Given the description of an element on the screen output the (x, y) to click on. 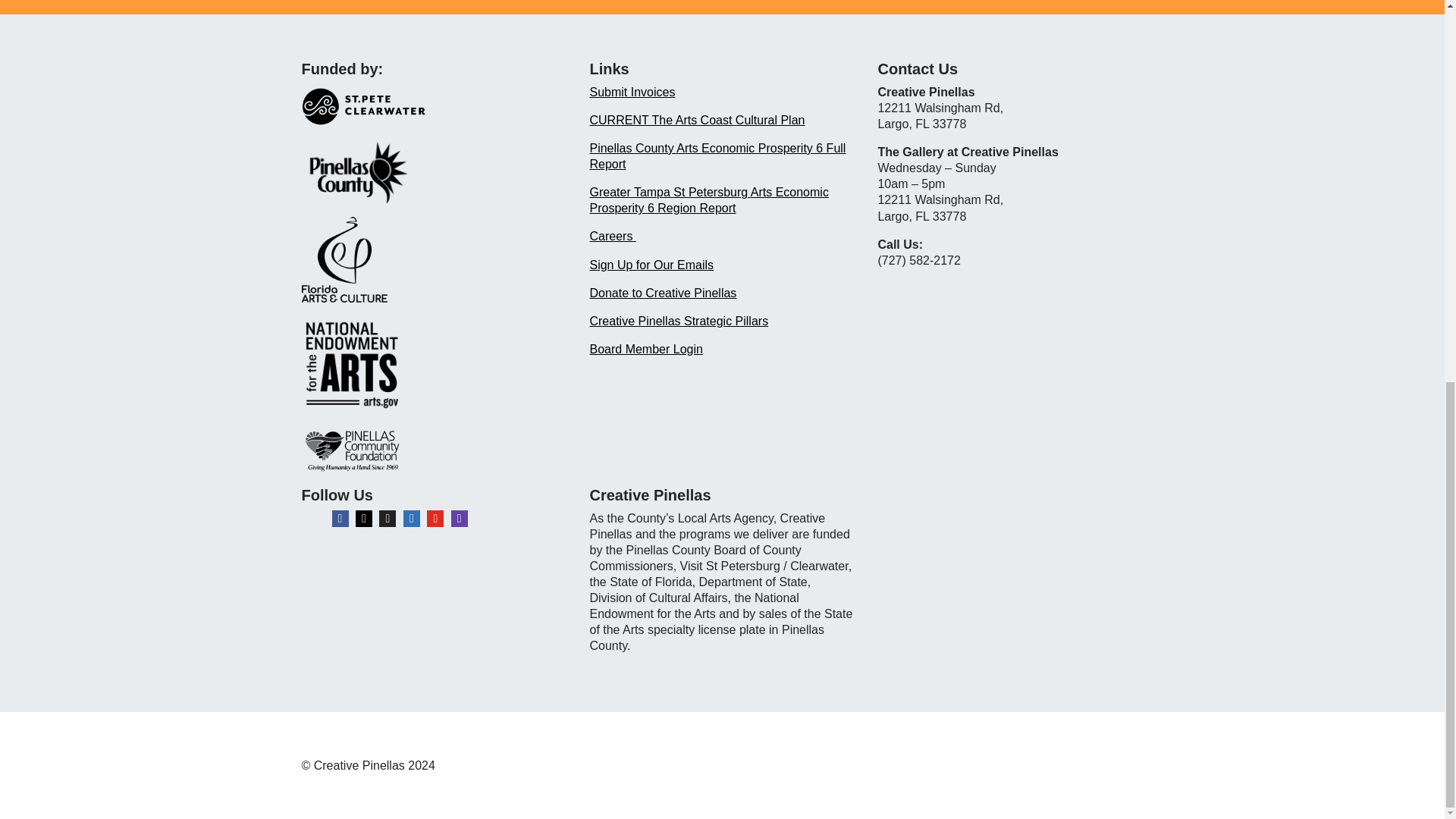
CURRENT The Arts Coast Cultural Plan (697, 119)
Sign Up for Our Emails (651, 264)
Facebook (340, 518)
Submit Invoices (632, 91)
Arts Economic Prosperity 6 Region Report (708, 199)
Instagram (363, 518)
YouTube (435, 518)
Greater Tampa St Petersburg (669, 192)
Linkedin (411, 518)
Twitch (459, 518)
